Given the description of an element on the screen output the (x, y) to click on. 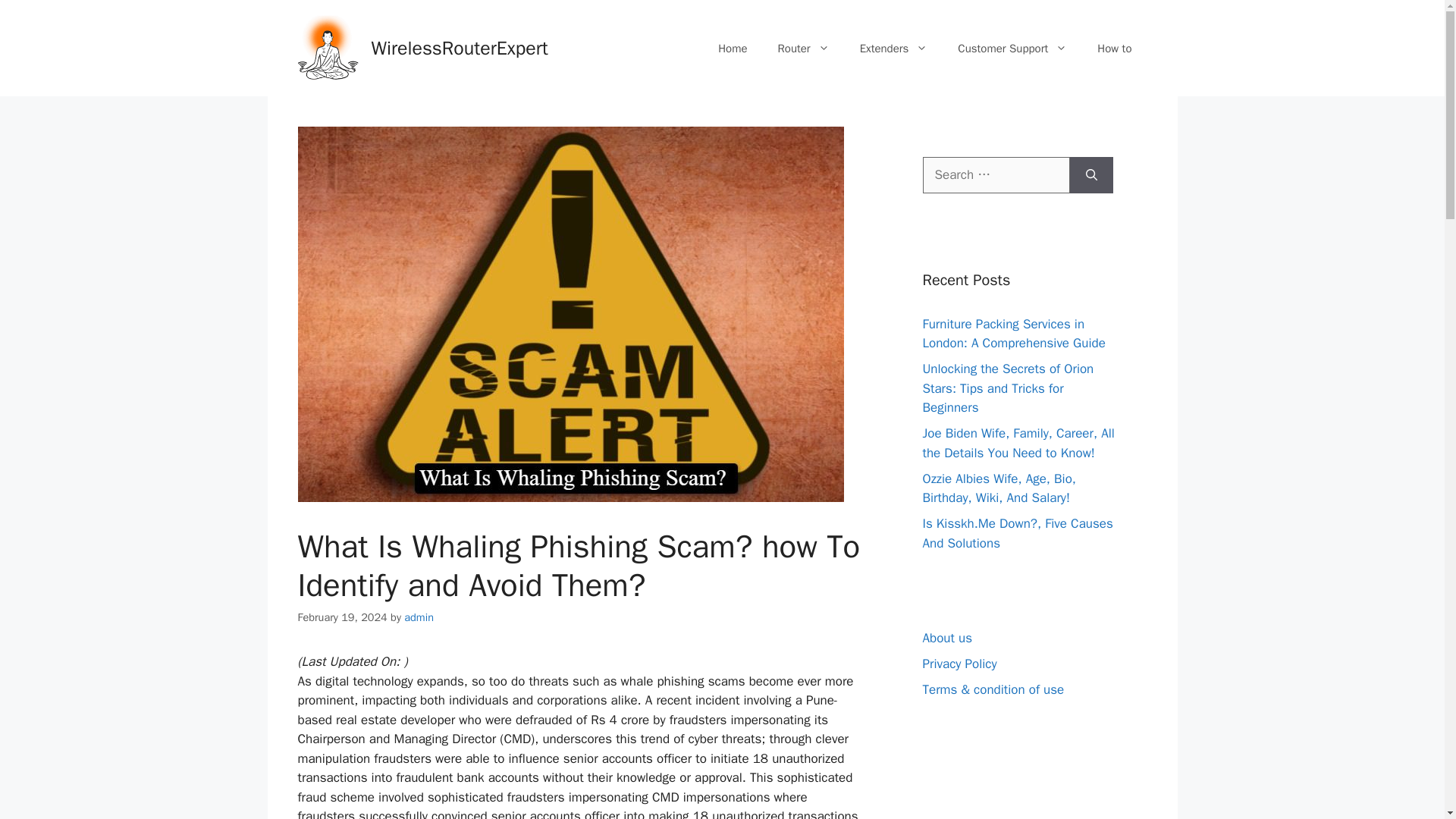
View all posts by admin (418, 617)
Search for: (994, 175)
Extenders (893, 48)
admin (418, 617)
Router (803, 48)
Customer Support (1011, 48)
How to (1114, 48)
Home (732, 48)
WirelessRouterExpert (459, 47)
